Given the description of an element on the screen output the (x, y) to click on. 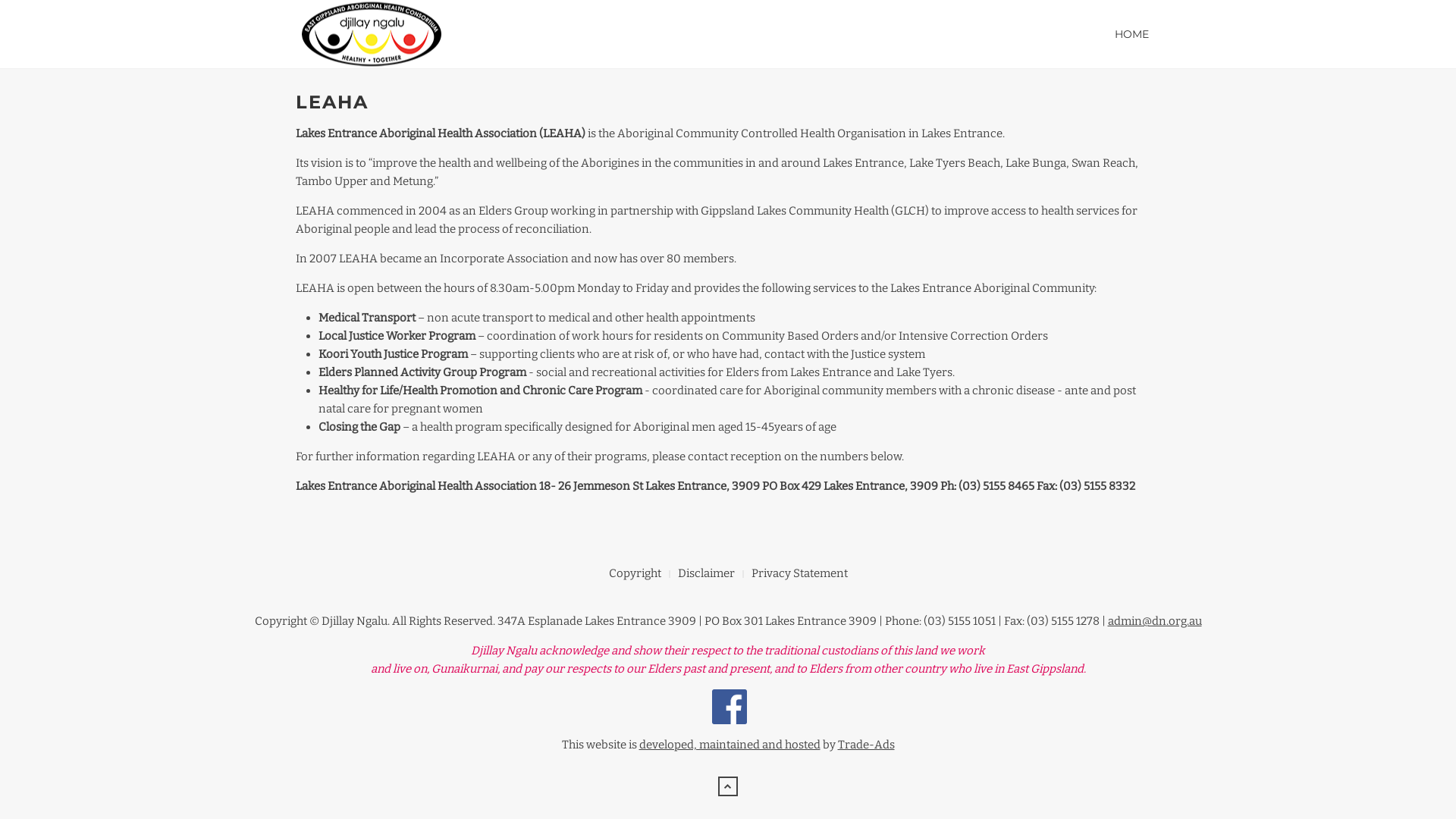
Disclaimer Element type: text (705, 573)
Copyright Element type: text (634, 573)
admin@dn.org.au Element type: text (1154, 620)
Trade-Ads Element type: text (865, 744)
developed, maintained and hosted Element type: text (728, 744)
HOME Element type: text (1131, 34)
Privacy Statement Element type: text (798, 573)
